Given the description of an element on the screen output the (x, y) to click on. 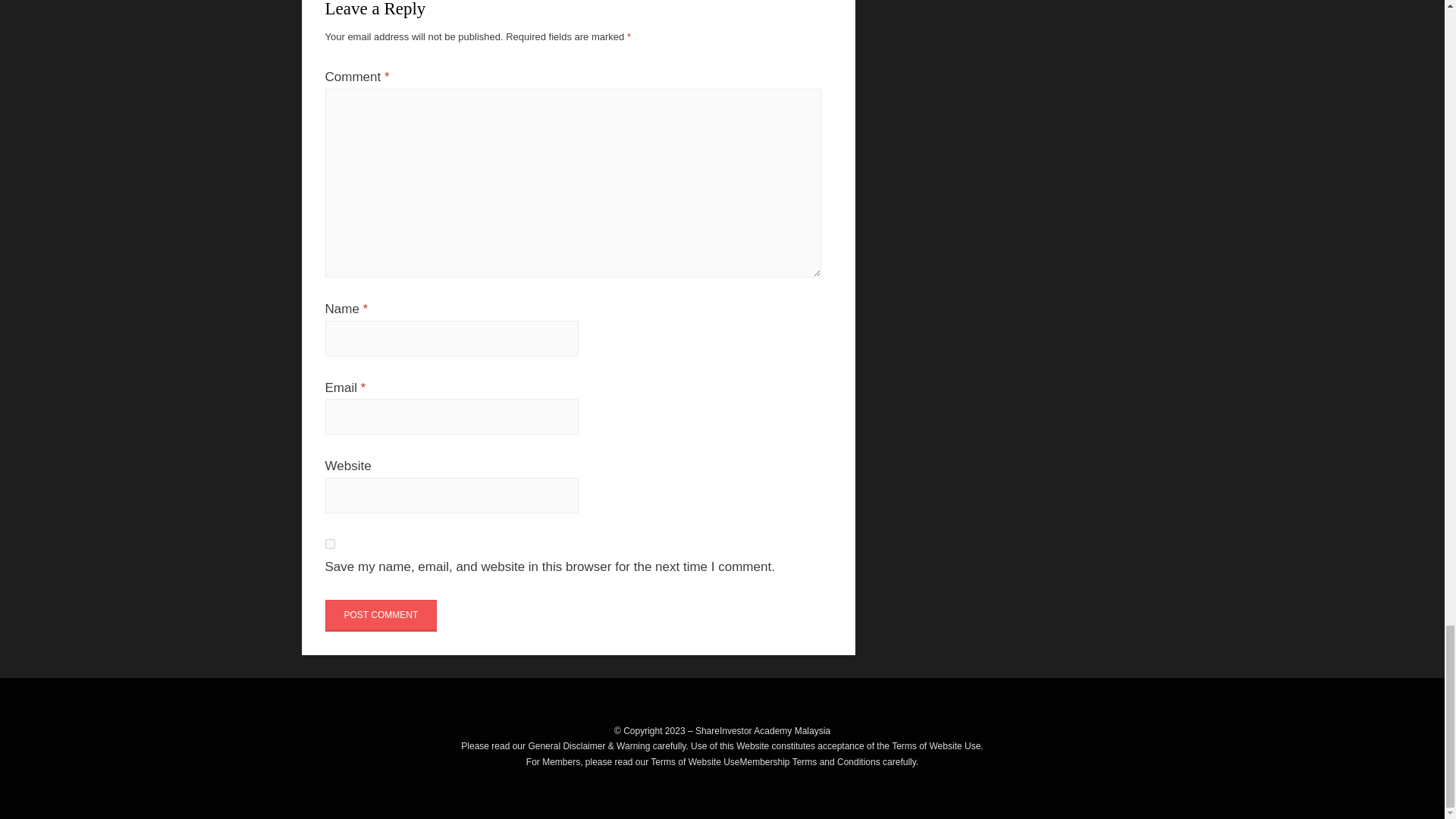
Post Comment (380, 615)
Post Comment (380, 615)
WordPress (489, 780)
yes (329, 543)
WPAisle (389, 780)
ShareInvestor Academy Malaysia (762, 730)
